Given the description of an element on the screen output the (x, y) to click on. 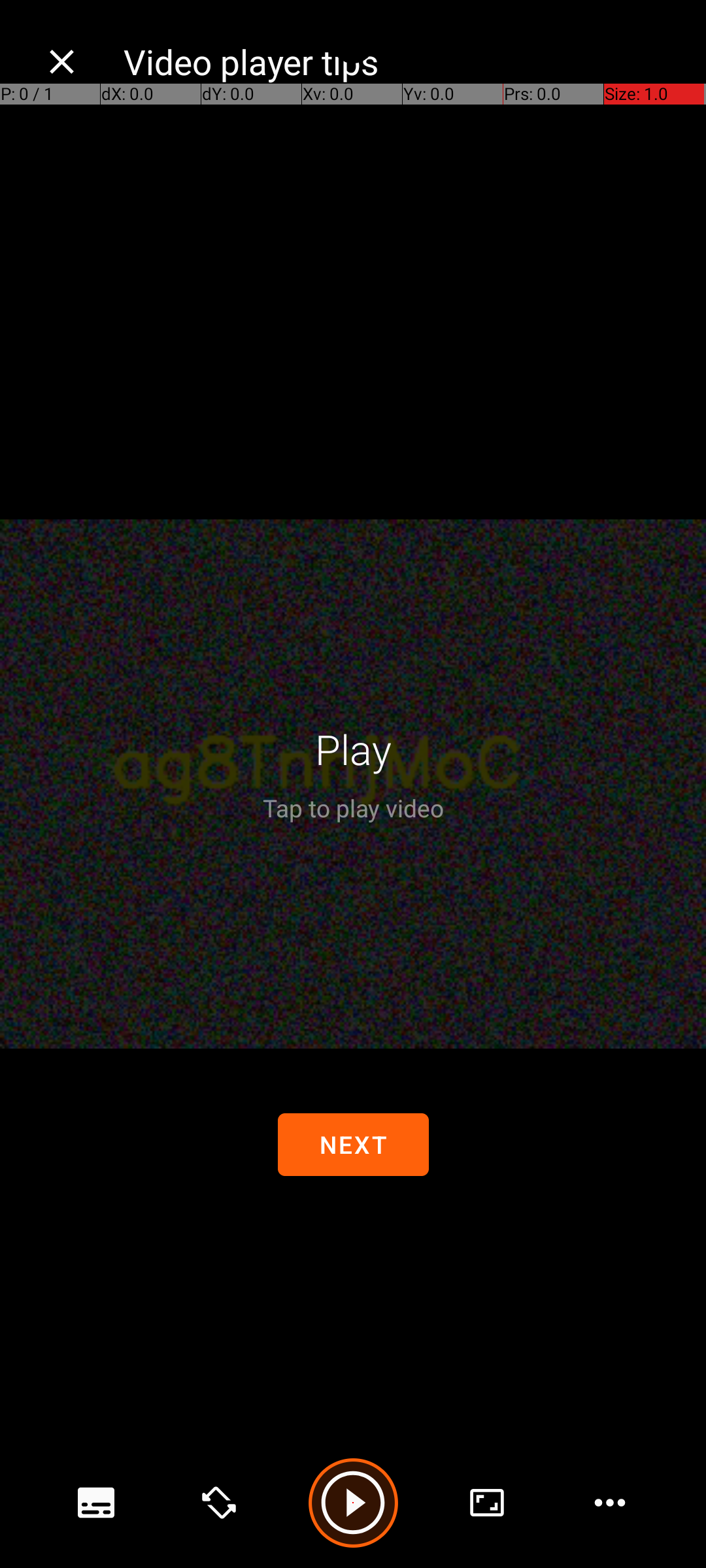
Video player. Tap to show controls. Tap the back button to hide them Element type: android.widget.FrameLayout (353, 784)
Video player tips Element type: android.widget.TextView (400, 61)
Play Element type: android.widget.TextView (353, 748)
Tap to play video Element type: android.widget.TextView (352, 807)
advanced options Element type: android.widget.ImageView (486, 1502)
